Given the description of an element on the screen output the (x, y) to click on. 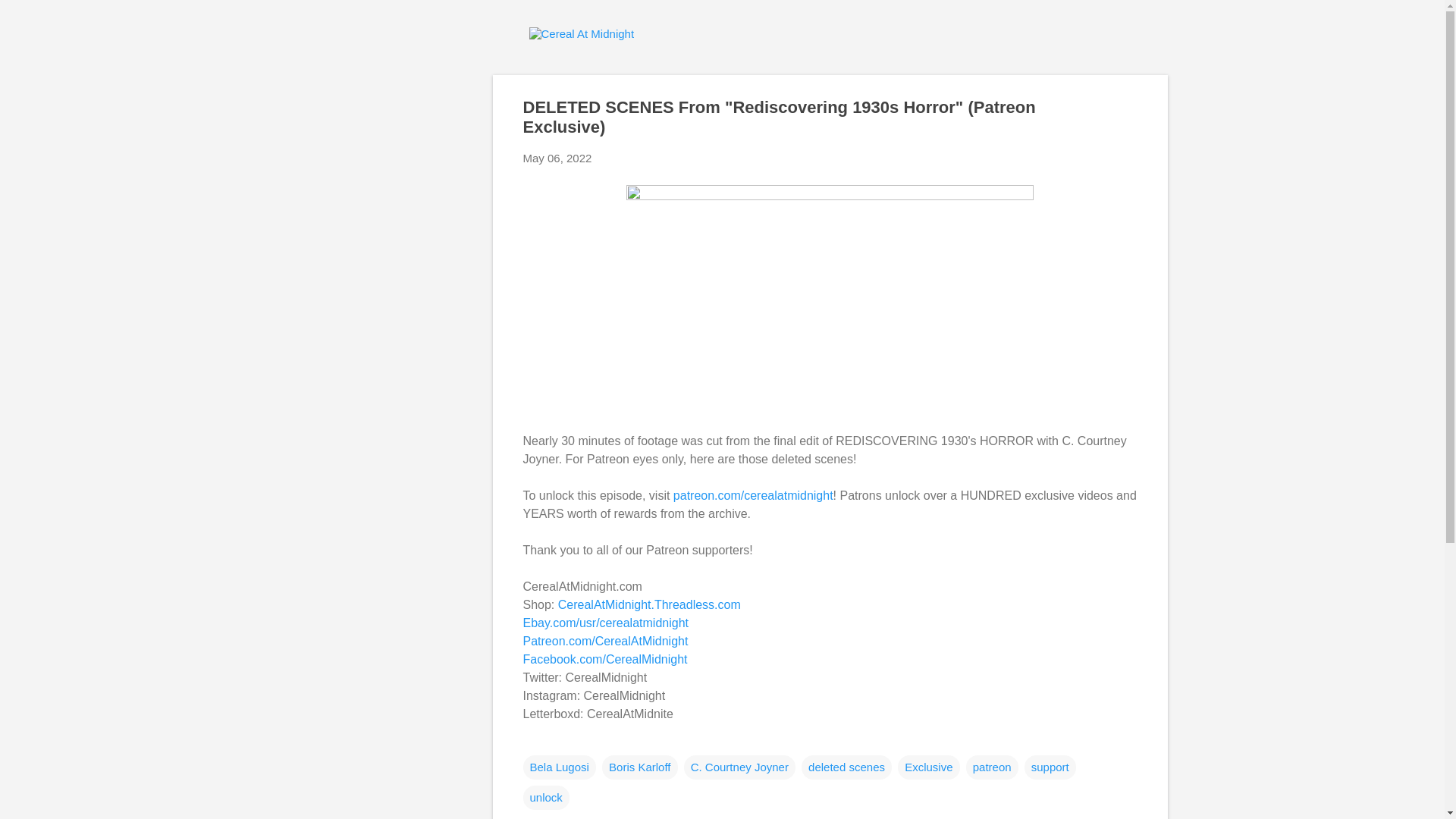
CerealAtMidnight.Threadless.com (649, 603)
May 06, 2022 (557, 157)
permanent link (557, 157)
support (1050, 767)
unlock (545, 797)
Search (29, 18)
Boris Karloff (639, 767)
patreon (991, 767)
Exclusive (928, 767)
C. Courtney Joyner (739, 767)
